Given the description of an element on the screen output the (x, y) to click on. 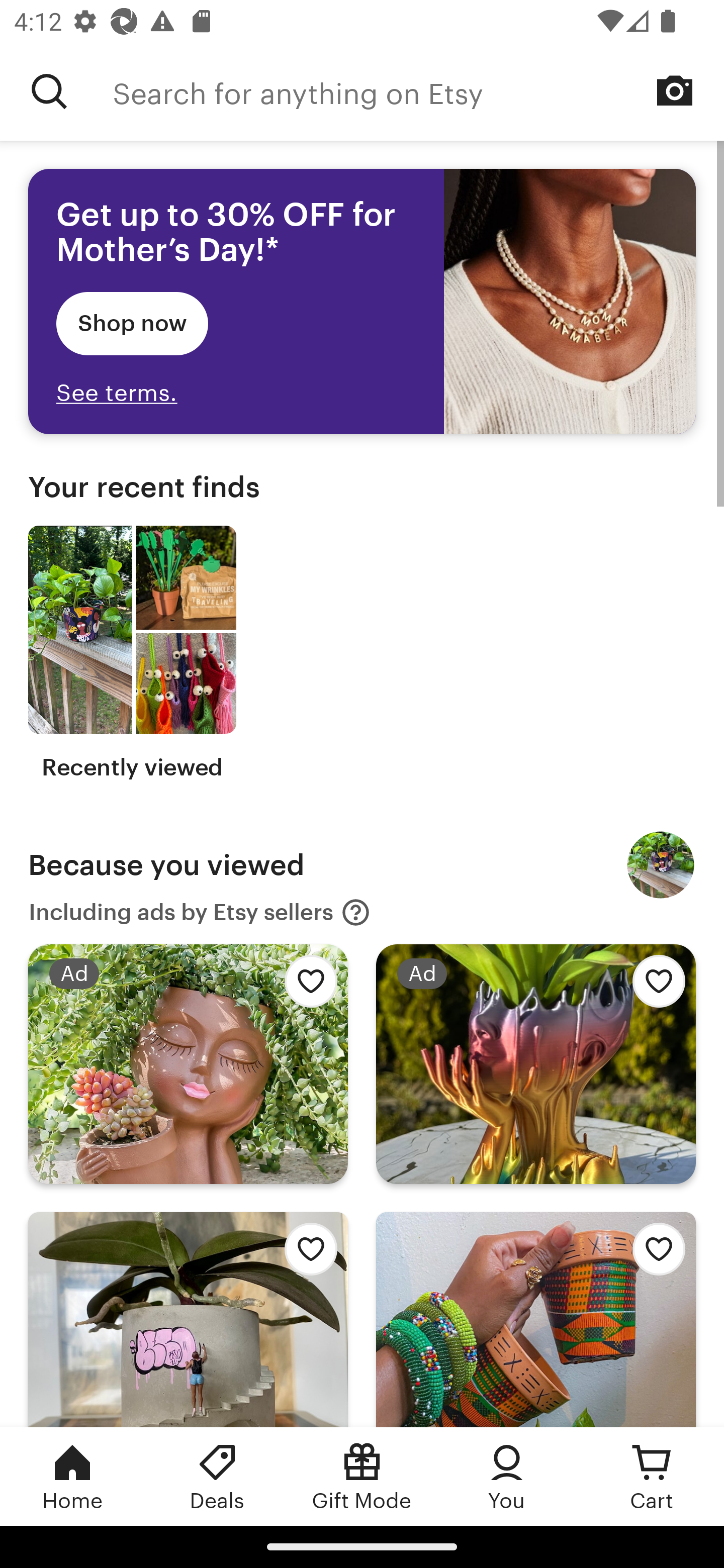
Search for anything on Etsy (49, 91)
Search by image (674, 90)
Search for anything on Etsy (418, 91)
Shop now (132, 322)
Recently viewed (132, 652)
Black Girl Magic (660, 865)
Including ads by Etsy sellers (199, 912)
Deals (216, 1475)
Gift Mode (361, 1475)
You (506, 1475)
Cart (651, 1475)
